Given the description of an element on the screen output the (x, y) to click on. 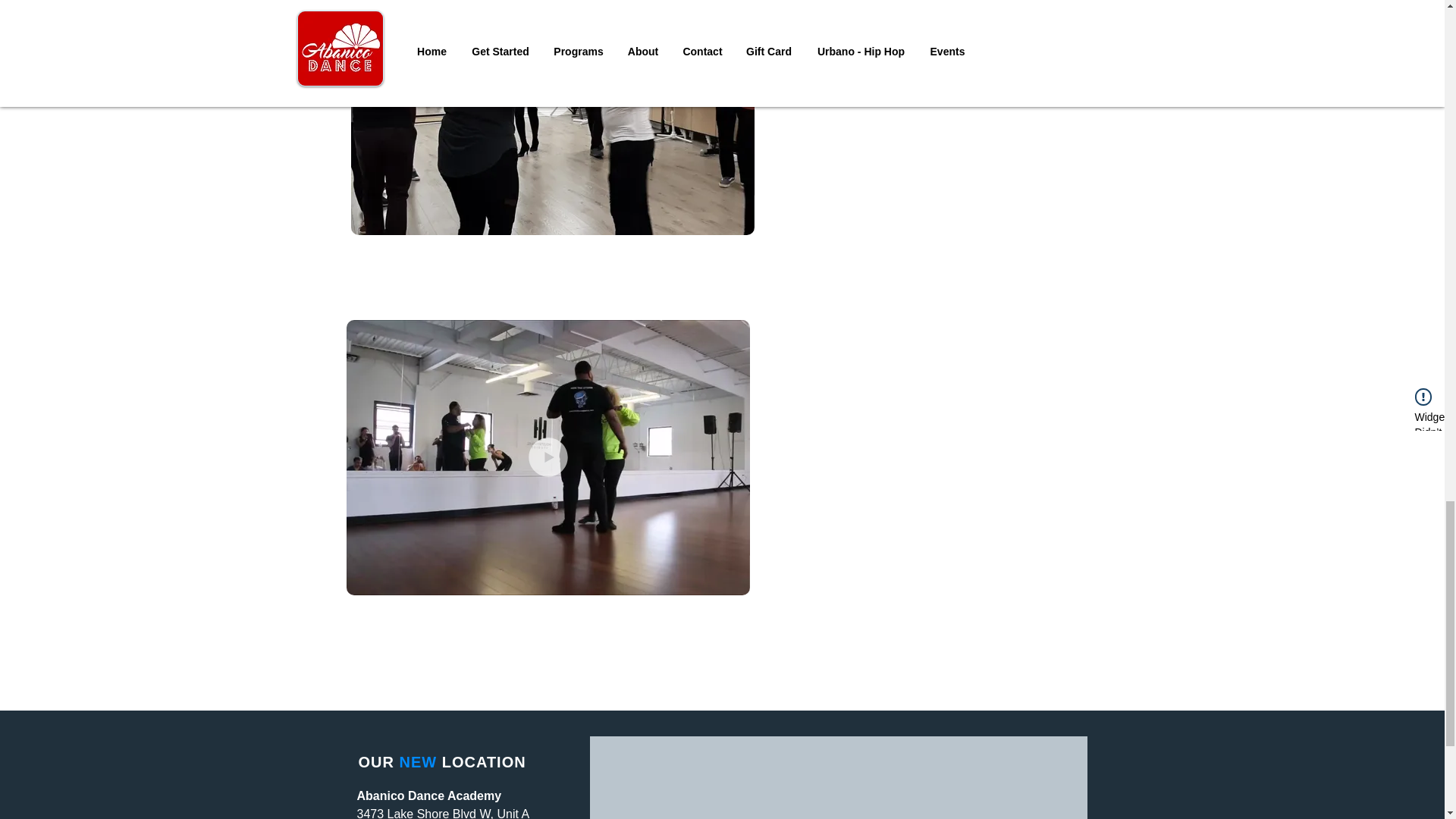
Google Maps (837, 778)
